Given the description of an element on the screen output the (x, y) to click on. 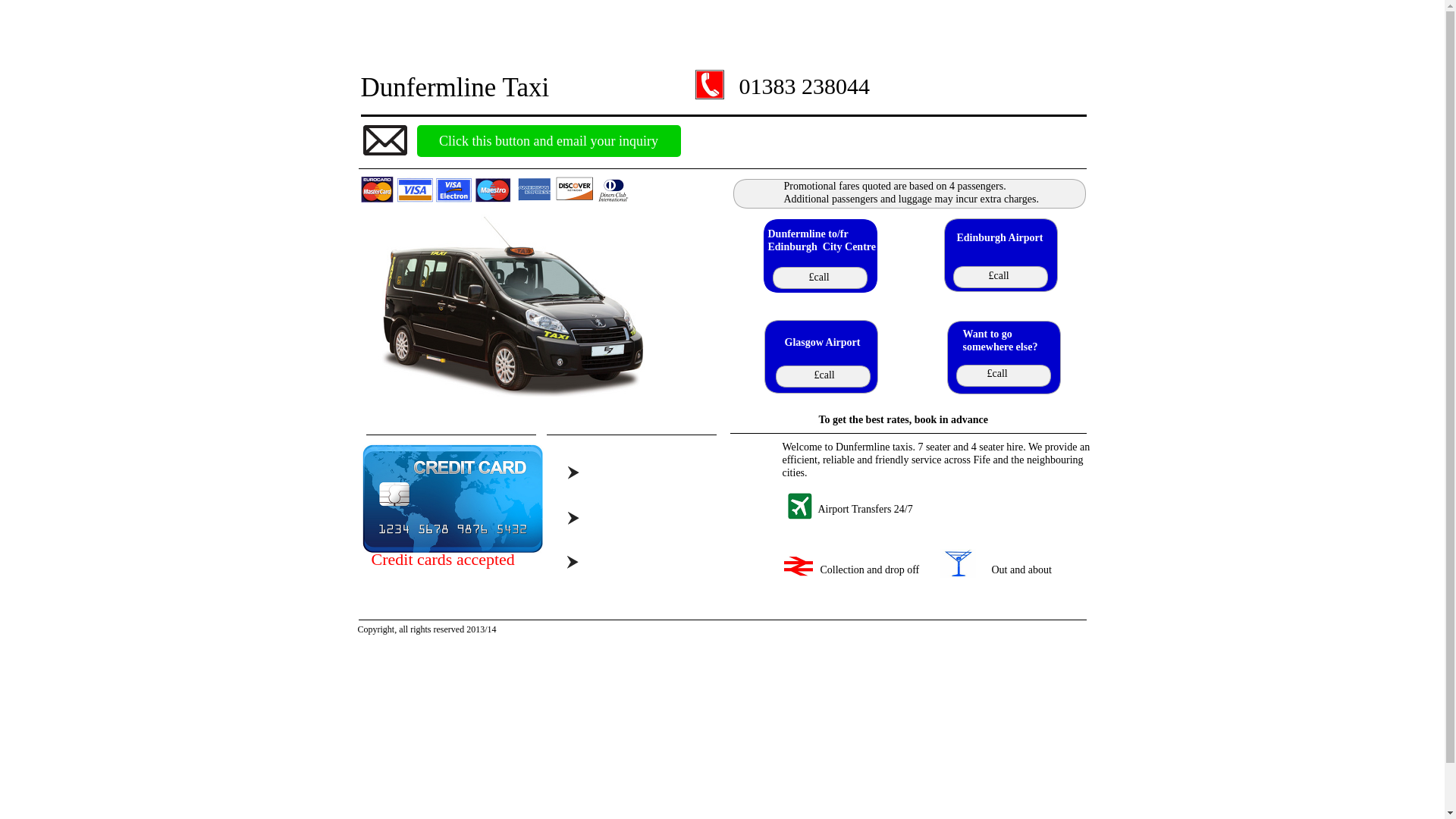
Embedded Content (496, 258)
Embedded Content (713, 29)
Embedded Content (471, 742)
01383 238044 (803, 85)
Click this button and email your inquiry (548, 141)
Embedded Content (517, 742)
